Given the description of an element on the screen output the (x, y) to click on. 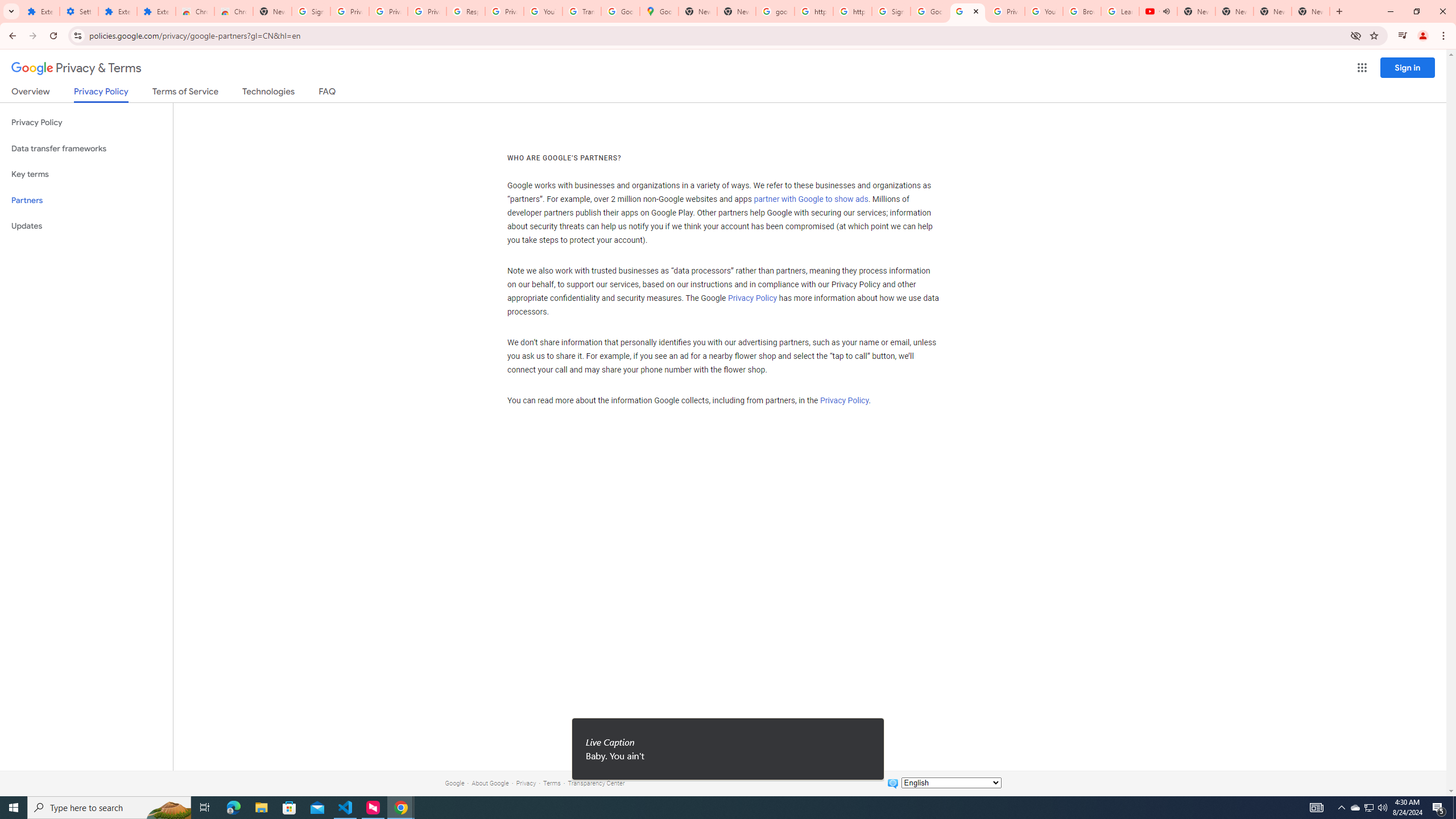
https://scholar.google.com/ (813, 11)
partner with Google to show ads (810, 199)
